Given the description of an element on the screen output the (x, y) to click on. 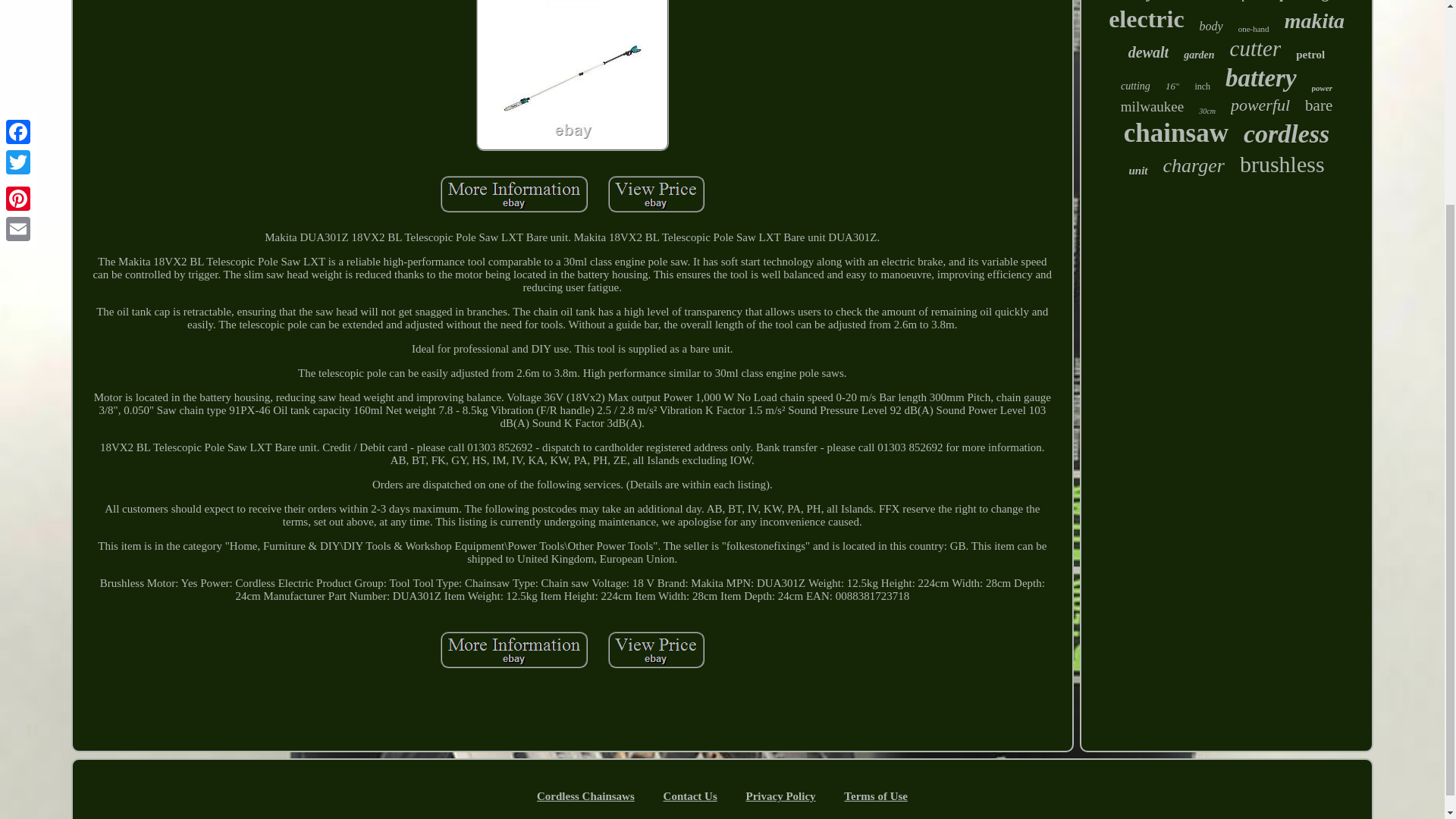
Makita DUA301Z 18VX2 BL Telescopic Pole Saw LXT Bare unit (656, 649)
Makita DUA301Z 18VX2 BL Telescopic Pole Saw LXT Bare unit (514, 194)
Makita DUA301Z 18VX2 BL Telescopic Pole Saw LXT Bare unit (514, 649)
Makita DUA301Z 18VX2 BL Telescopic Pole Saw LXT Bare unit (572, 75)
Makita DUA301Z 18VX2 BL Telescopic Pole Saw LXT Bare unit (656, 194)
